Given the description of an element on the screen output the (x, y) to click on. 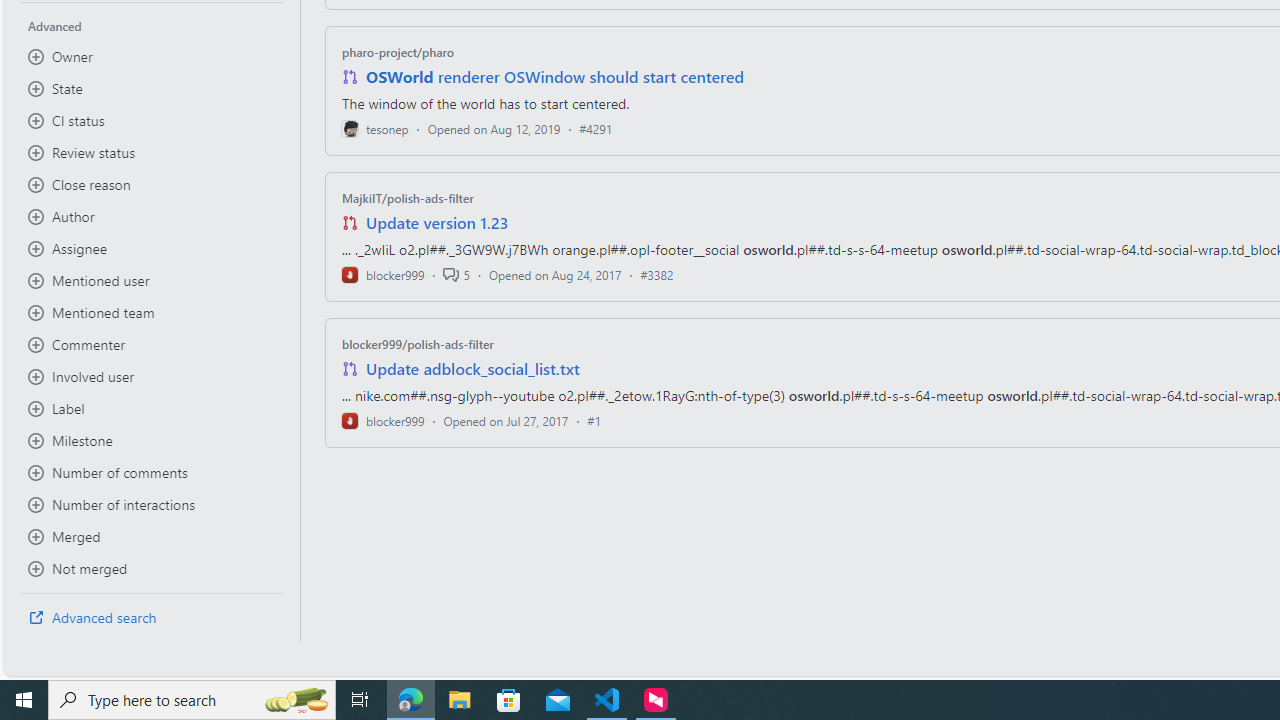
#3382 (657, 273)
blocker999 (382, 420)
#4291 (595, 128)
Advanced search (152, 617)
